Given the description of an element on the screen output the (x, y) to click on. 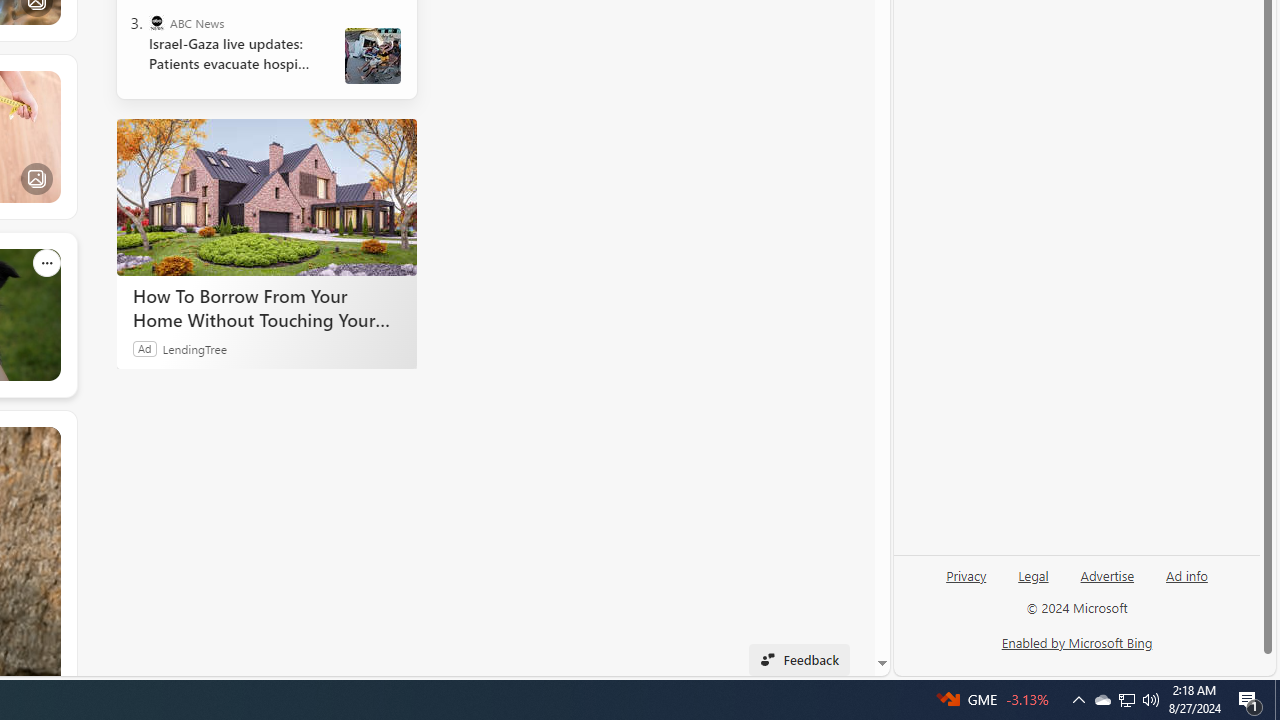
LendingTree (194, 348)
